Given the description of an element on the screen output the (x, y) to click on. 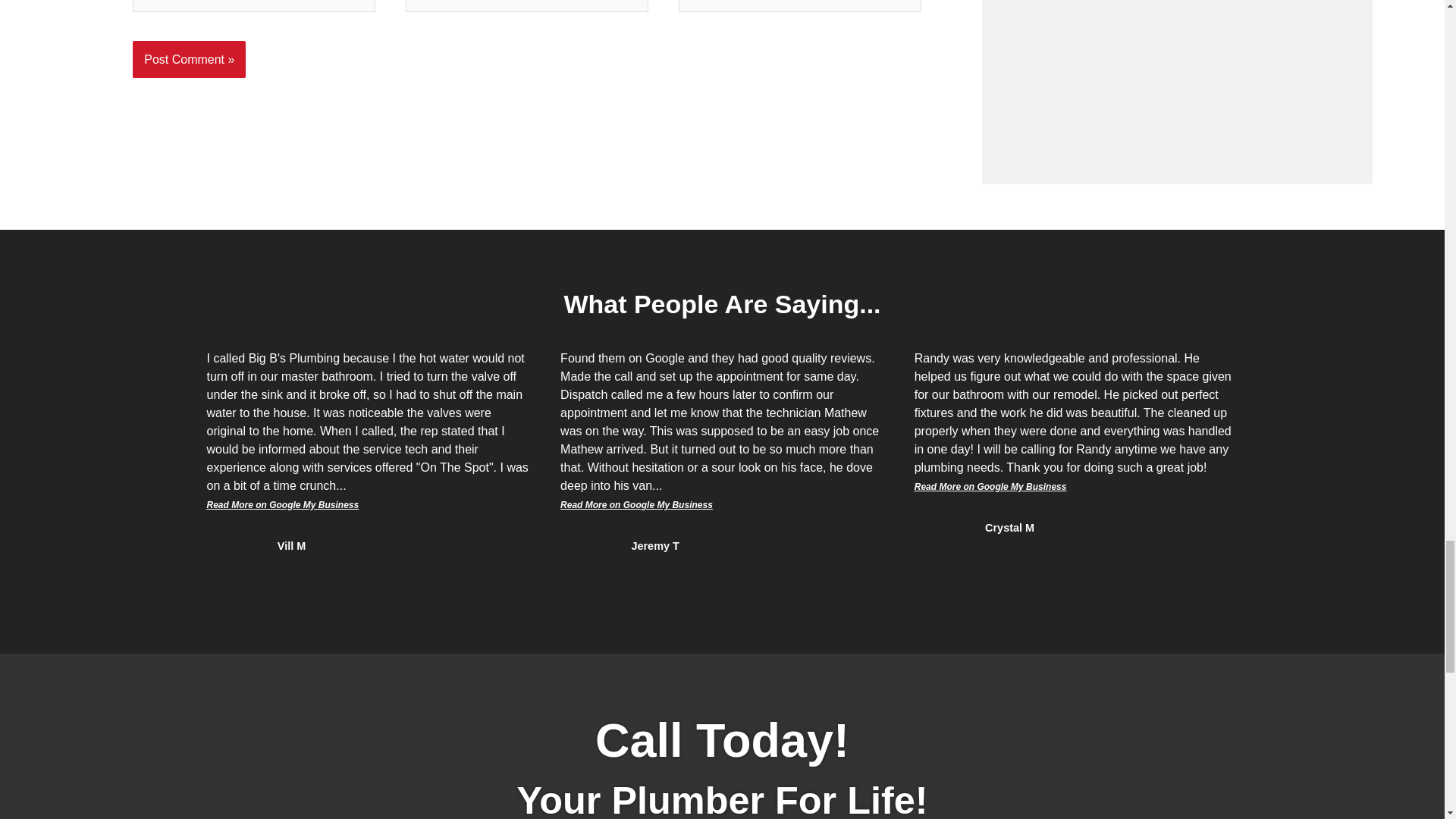
vill (232, 545)
jeremy (586, 545)
crystal (941, 527)
